Given the description of an element on the screen output the (x, y) to click on. 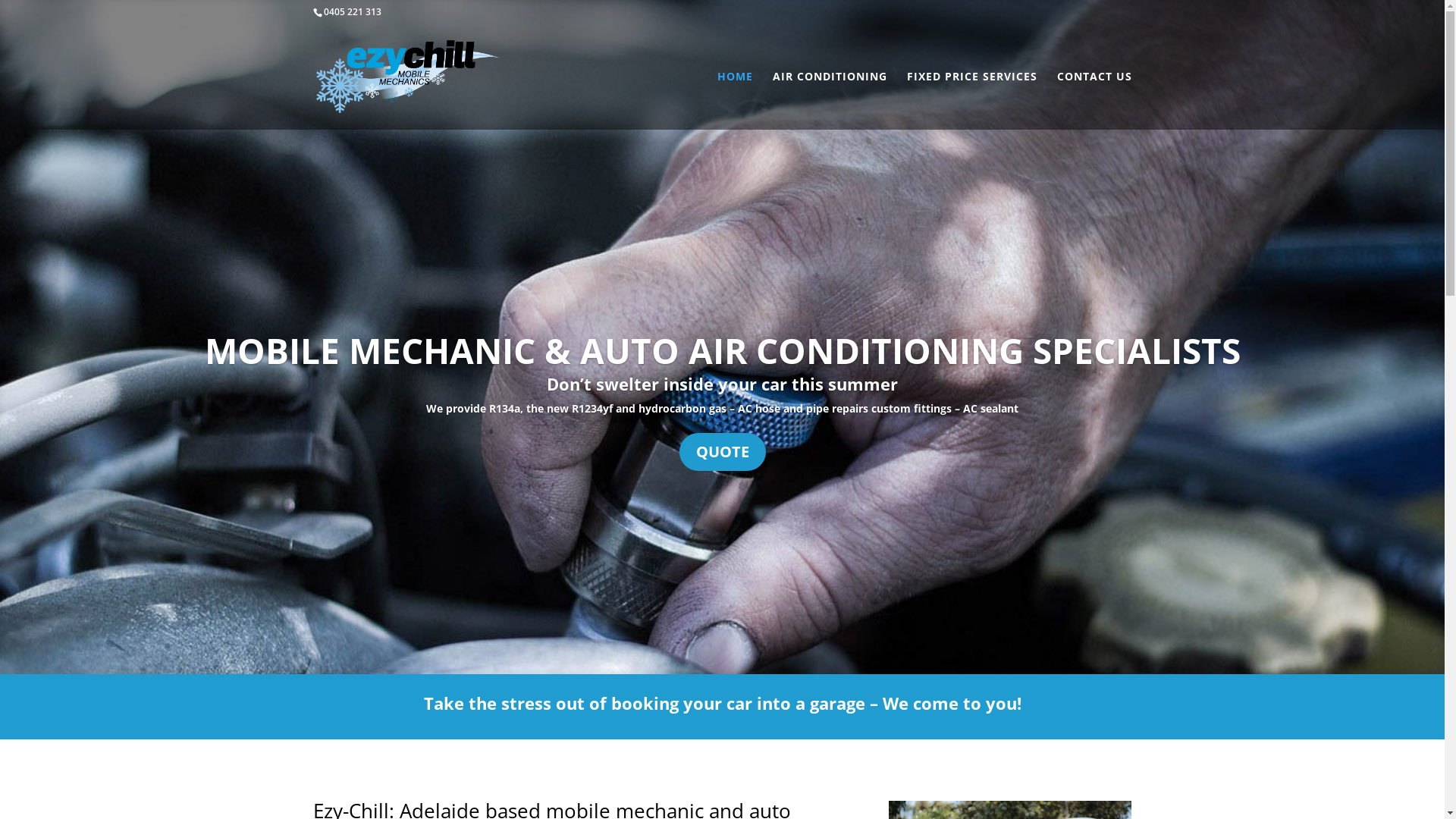
AIR CONDITIONING Element type: text (828, 100)
FIXED PRICE SERVICES Element type: text (971, 100)
MOBILE MECHANIC & AUTO AIR CONDITIONING SPECIALISTS Element type: text (722, 349)
QUOTE Element type: text (722, 451)
HOME Element type: text (735, 100)
0405 221 313 Element type: text (351, 11)
CONTACT US Element type: text (1094, 100)
